Given the description of an element on the screen output the (x, y) to click on. 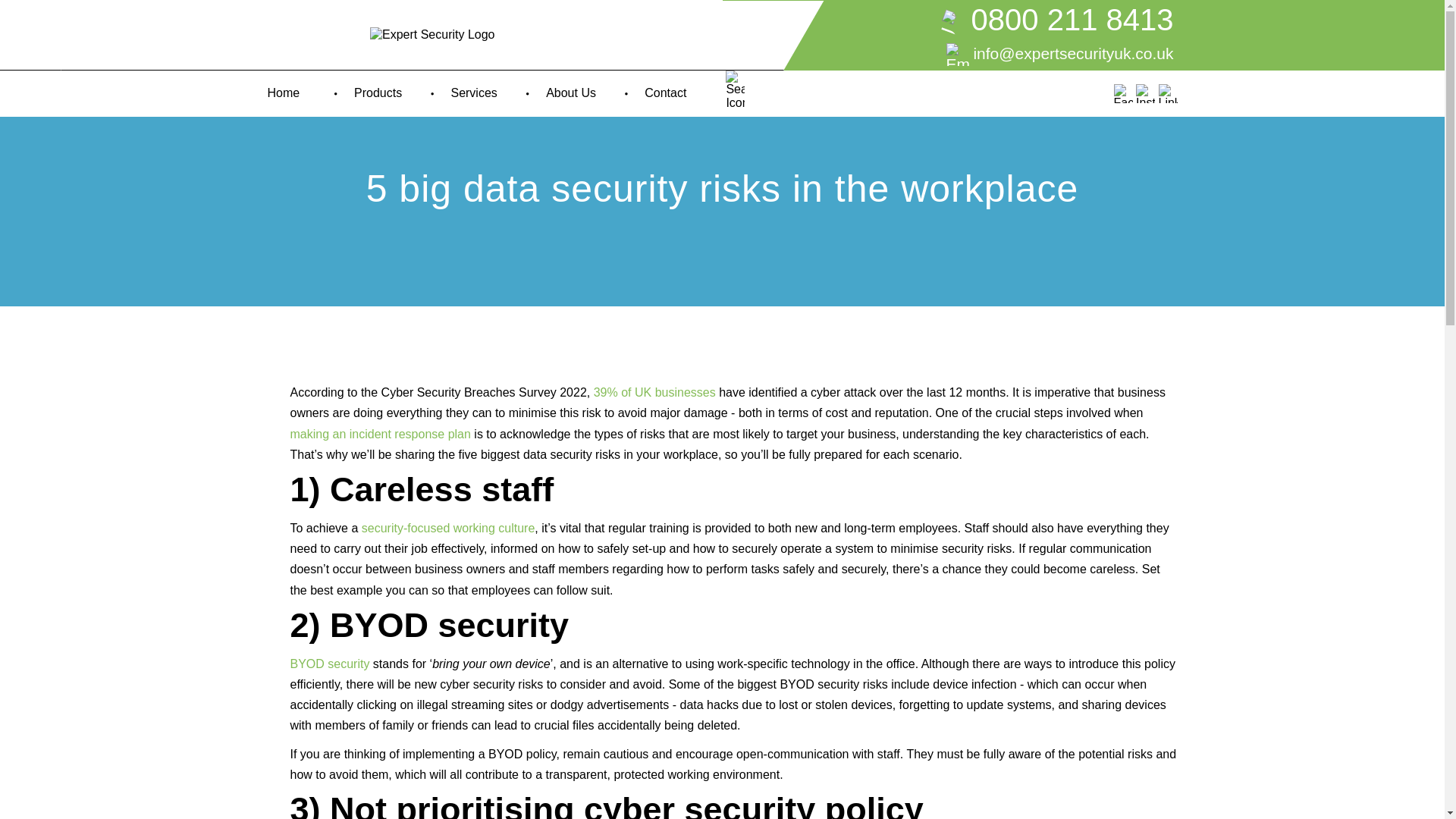
0800 211 8413 (968, 21)
Products (381, 92)
Home (286, 92)
